Given the description of an element on the screen output the (x, y) to click on. 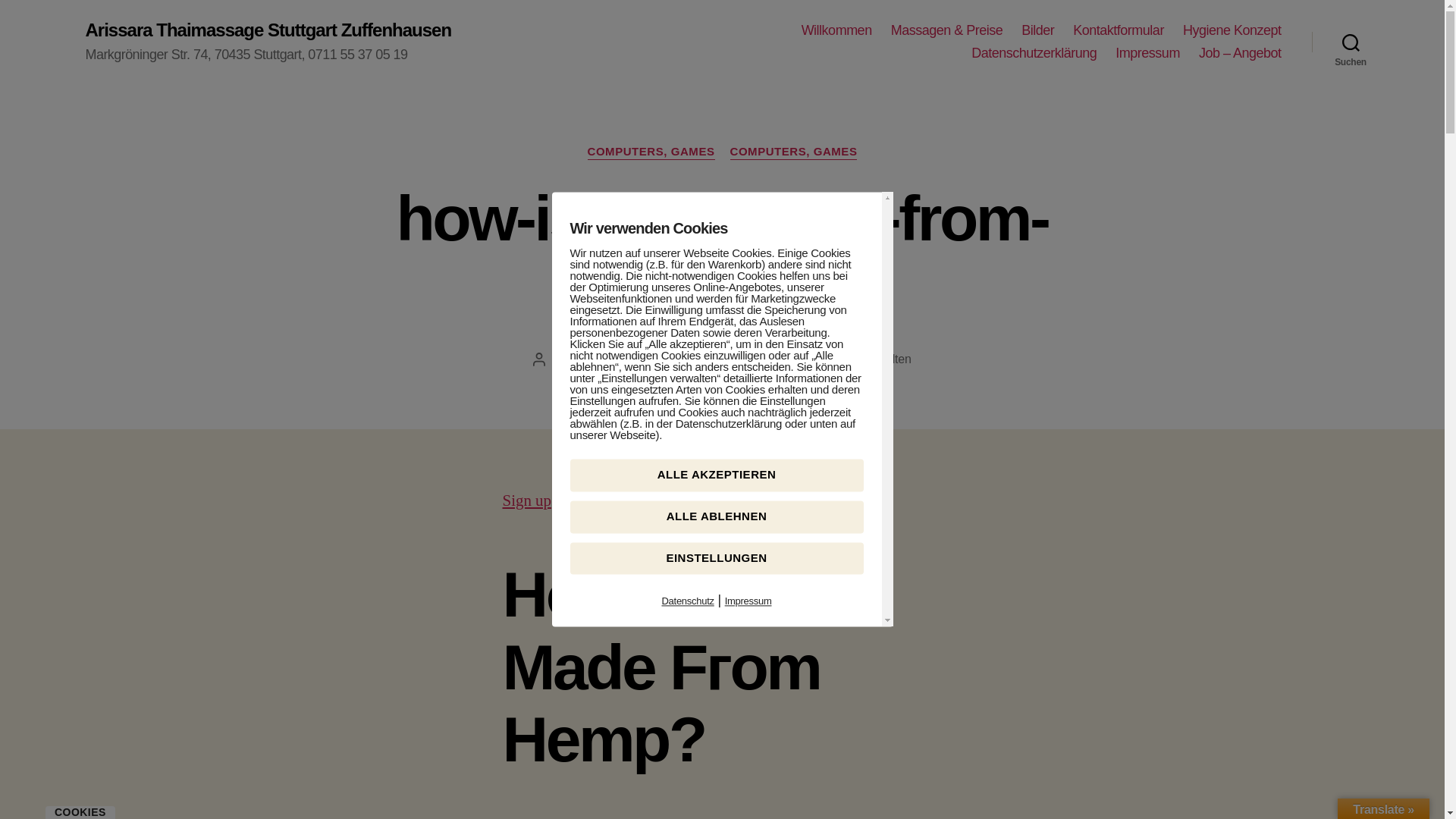
Hygiene Konzept (1231, 30)
Willkommen (837, 30)
Impressum (1147, 53)
COMPUTERS, GAMES (651, 151)
receive (603, 500)
COMPUTERS, GAMES (793, 151)
angelesritchard (616, 358)
Arissara Thaimassage Stuttgart Zuffenhausen (267, 30)
Sign up (526, 500)
Suchen (1350, 41)
